Given the description of an element on the screen output the (x, y) to click on. 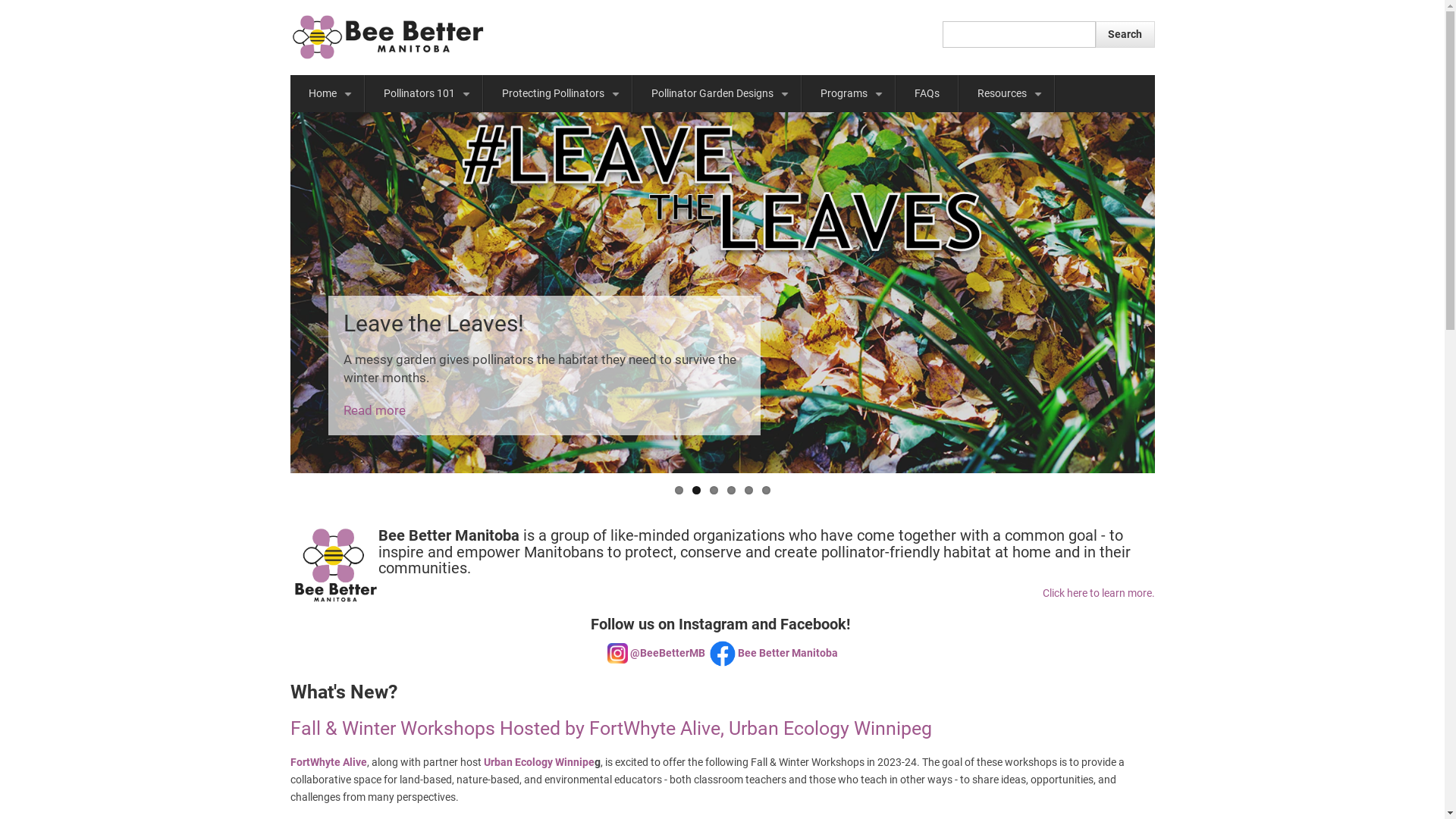
Enter the terms you wish to search for. Element type: hover (1018, 34)
+
Home Element type: text (326, 93)
+
Programs Element type: text (848, 93)
Urban Ecology Winnipe Element type: text (538, 762)
3 Element type: text (713, 490)
FAQs Element type: text (926, 93)
+
Pollinators 101 Element type: text (423, 93)
Skip to main content Element type: text (0, 0)
Bee Better Manitoba Element type: text (787, 652)
6 Element type: text (765, 490)
5 Element type: text (748, 490)
+
Pollinator Garden Designs Element type: text (716, 93)
Read more Element type: text (373, 409)
4 Element type: text (730, 490)
Home Element type: hover (387, 36)
+
Protecting Pollinators Element type: text (557, 93)
Search Element type: text (1124, 34)
FortWhyte Alive Element type: text (327, 762)
1 Element type: text (678, 490)
Click here to learn more. Element type: text (1097, 592)
@BeeBetterMB Element type: text (666, 652)
2 Element type: text (695, 490)
+
Resources Element type: text (1005, 93)
